Given the description of an element on the screen output the (x, y) to click on. 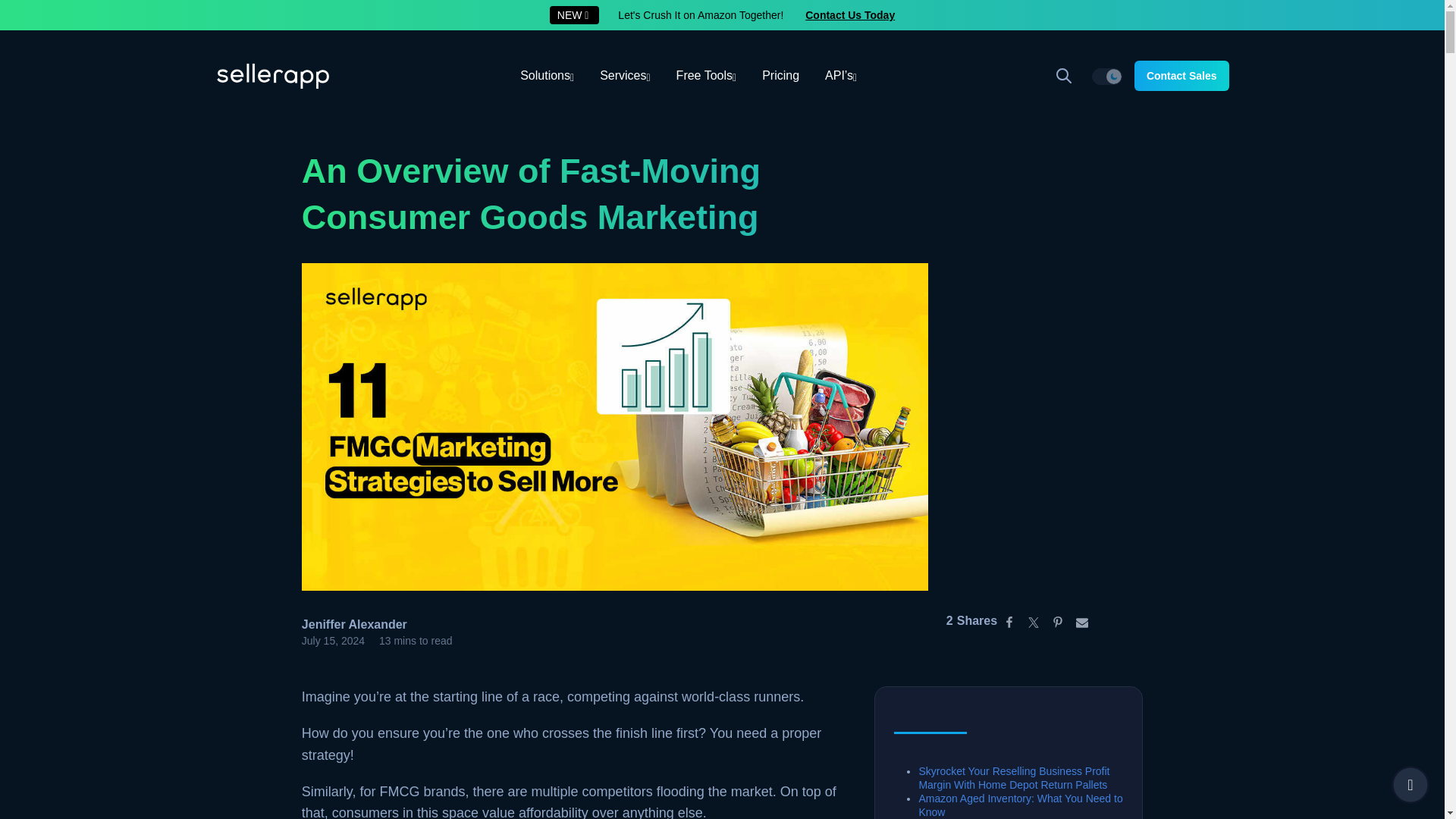
Share on Pinterest (1057, 621)
Share on Facebook (1009, 621)
Pricing (780, 75)
Share on Twitter (1033, 621)
on (1107, 76)
Free Tools (706, 75)
Share via Email (1082, 621)
Services (624, 75)
Solutions (546, 75)
Contact Sales (1181, 75)
Posts by Jeniffer Alexander (354, 624)
Contact Us Today (850, 15)
